Given the description of an element on the screen output the (x, y) to click on. 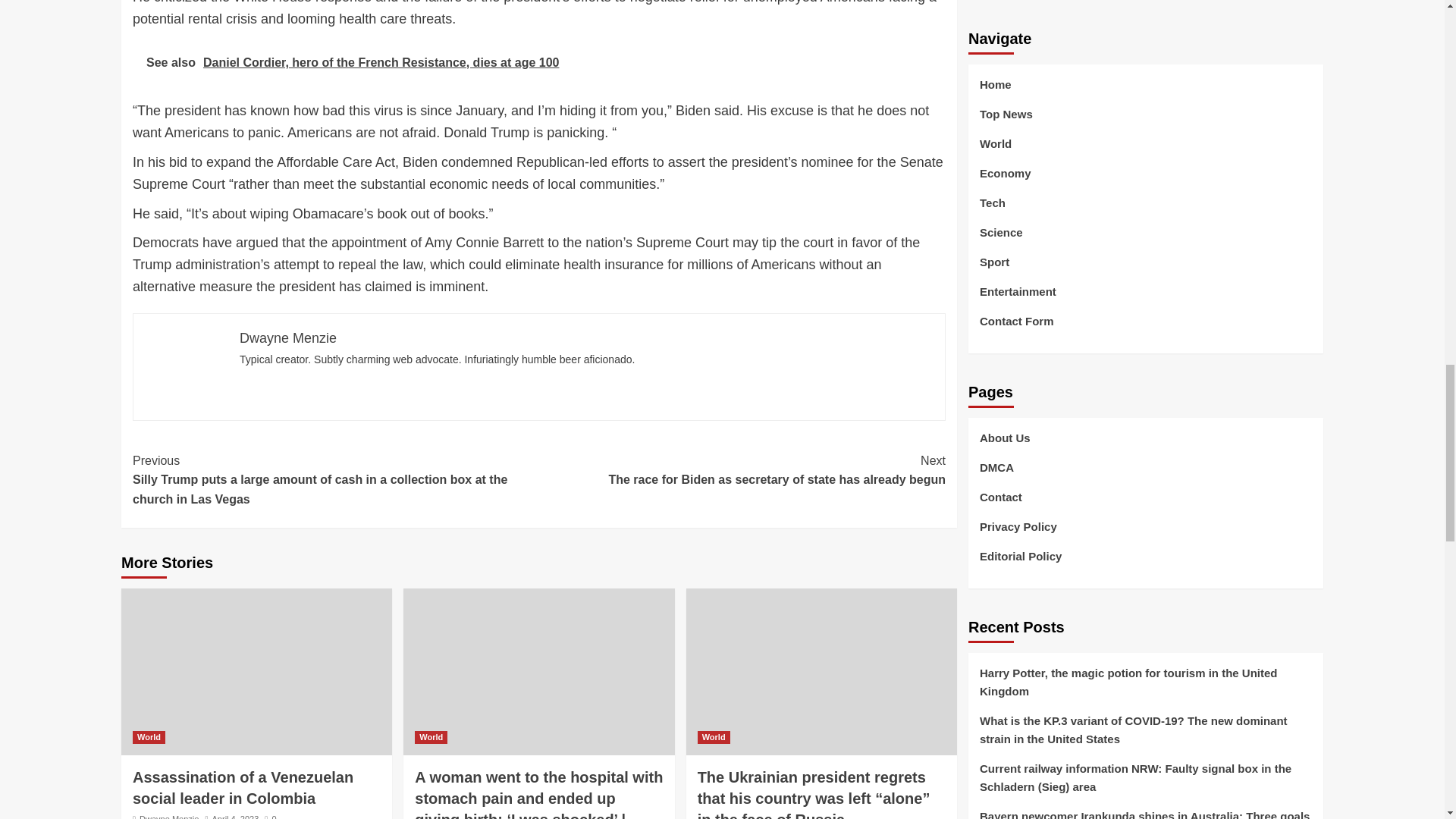
0 (270, 816)
April 4, 2023 (235, 816)
World (430, 737)
Dwayne Menzie (288, 337)
World (148, 737)
Dwayne Menzie (168, 816)
Assassination of a Venezuelan social leader in Colombia (242, 787)
